Given the description of an element on the screen output the (x, y) to click on. 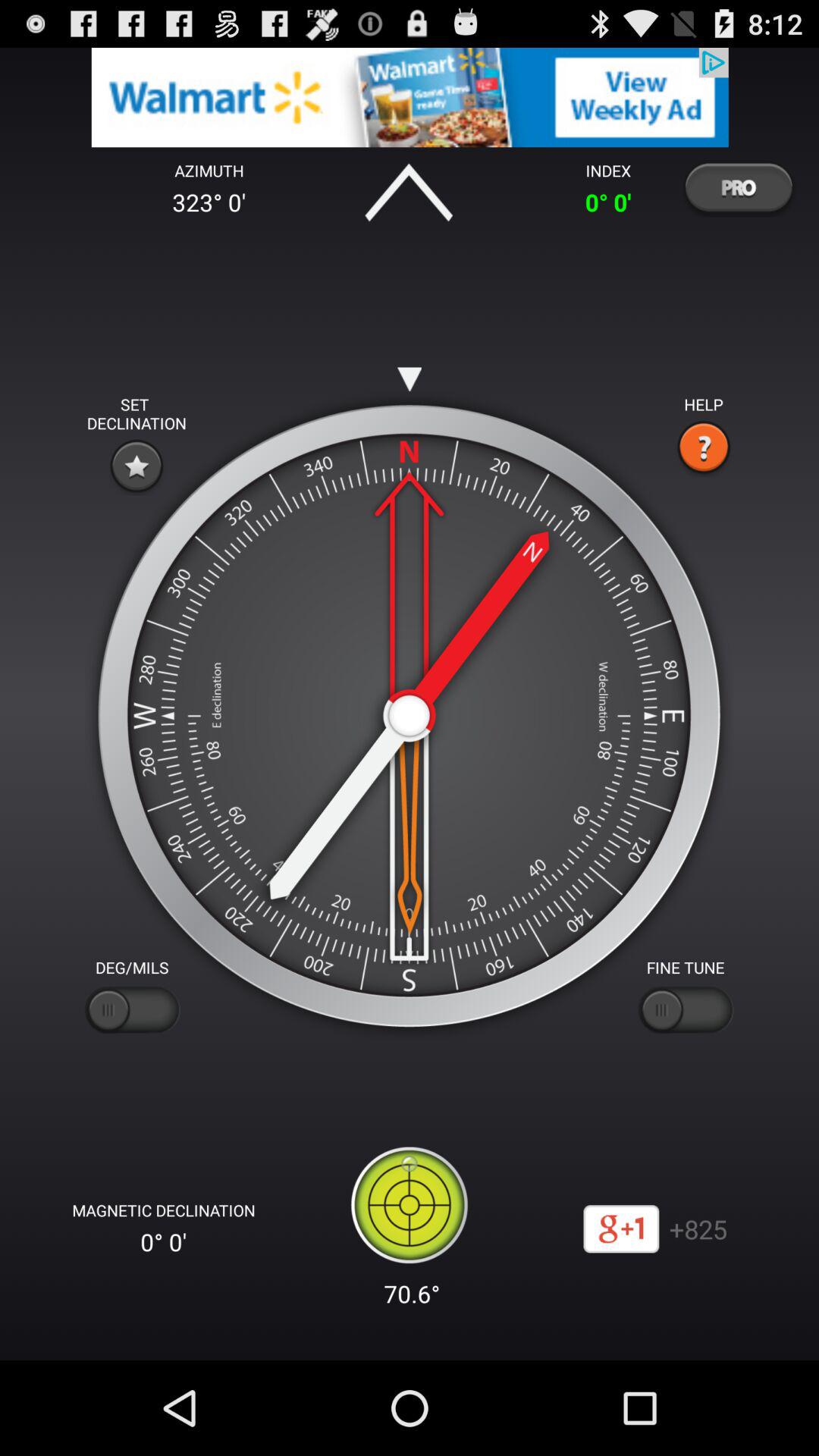
toggle fine tune (685, 1010)
